Given the description of an element on the screen output the (x, y) to click on. 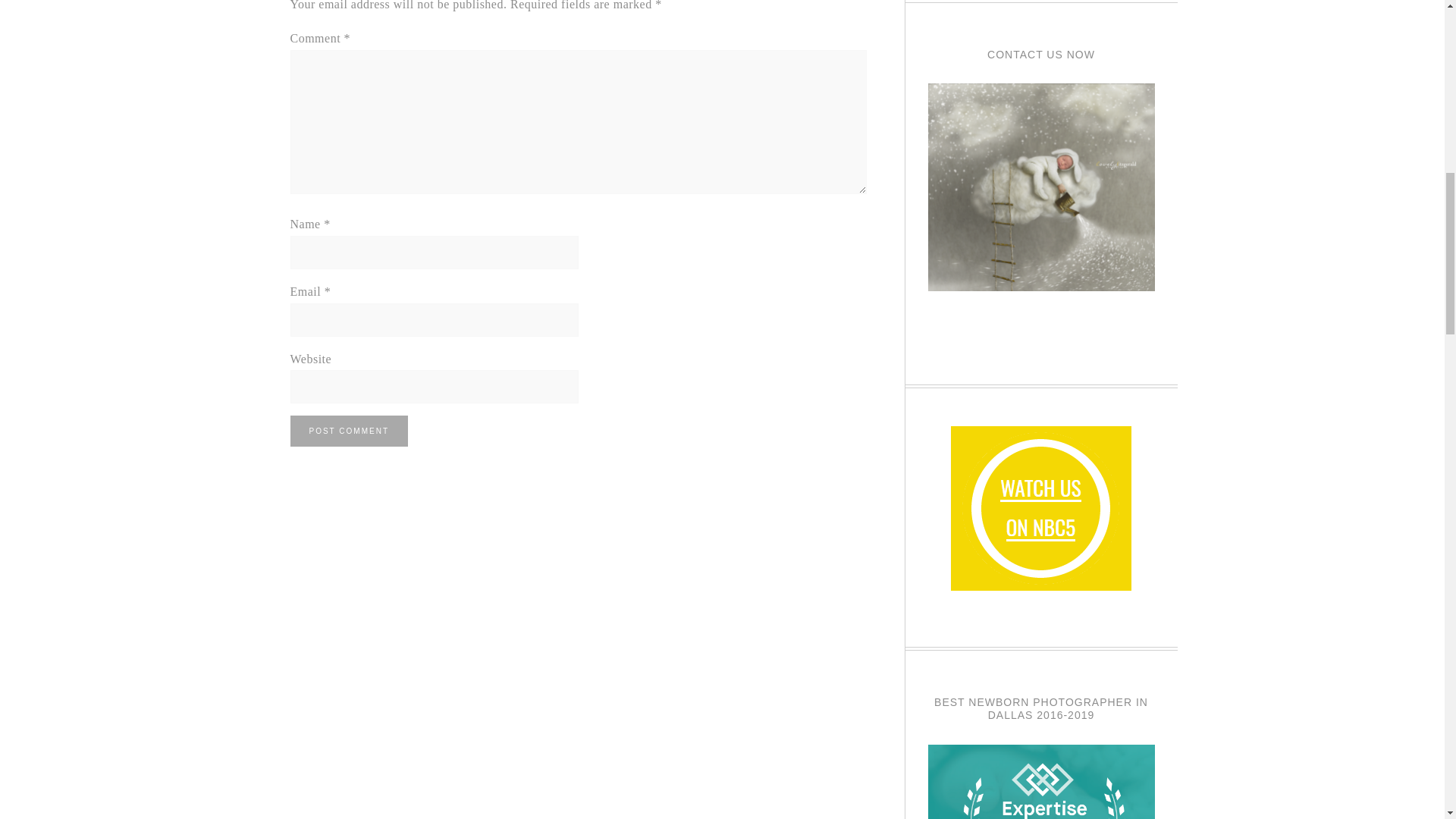
Post Comment (348, 430)
Post Comment (348, 430)
